Given the description of an element on the screen output the (x, y) to click on. 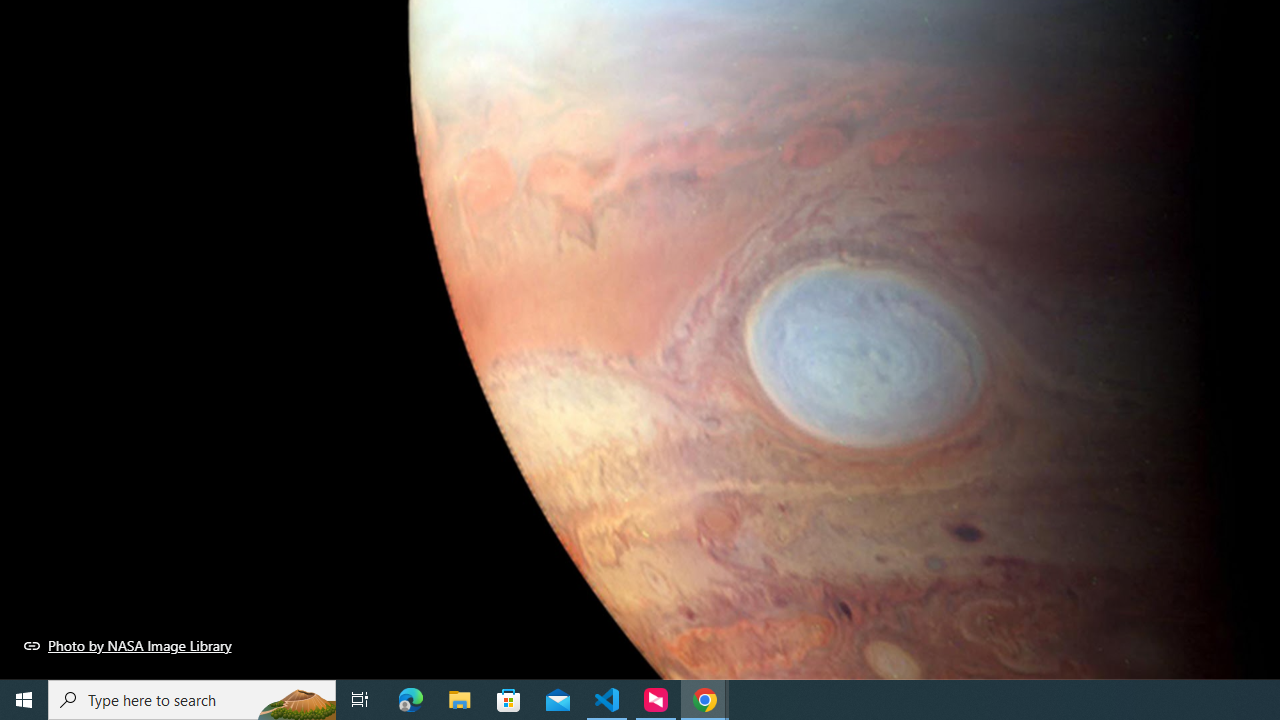
Photo by NASA Image Library (127, 645)
